Given the description of an element on the screen output the (x, y) to click on. 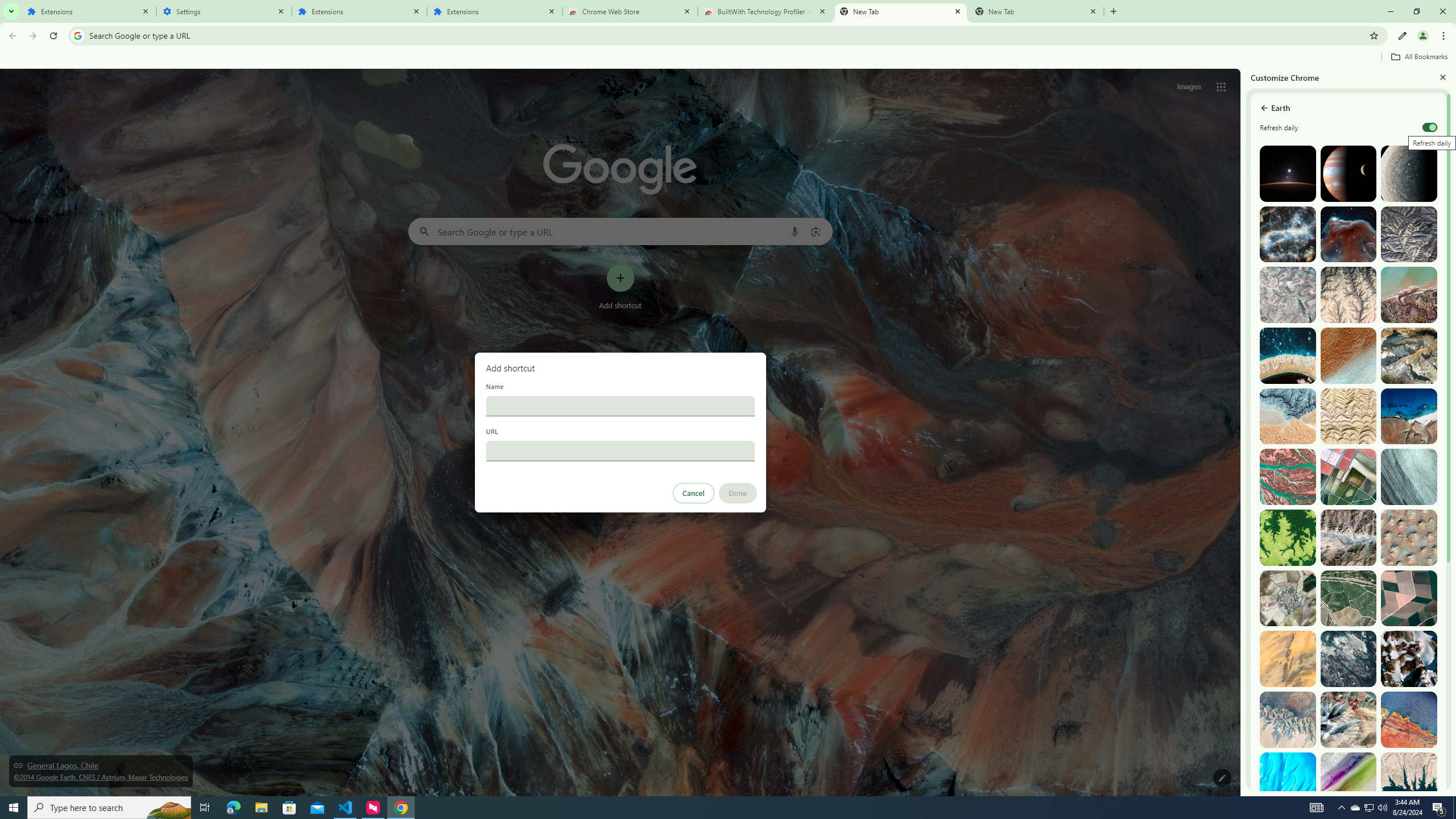
Davis County, United States (1348, 780)
Customize Chrome (1402, 35)
Name (620, 405)
Refresh daily (1429, 126)
Libya (1408, 719)
Granville, France (1348, 658)
BuiltWith Technology Profiler - Chrome Web Store (765, 11)
Hardap, Namibia (1287, 416)
Bookmarks (728, 58)
Pozoantiguo, Spain (1287, 598)
Chrome Web Store (630, 11)
